Given the description of an element on the screen output the (x, y) to click on. 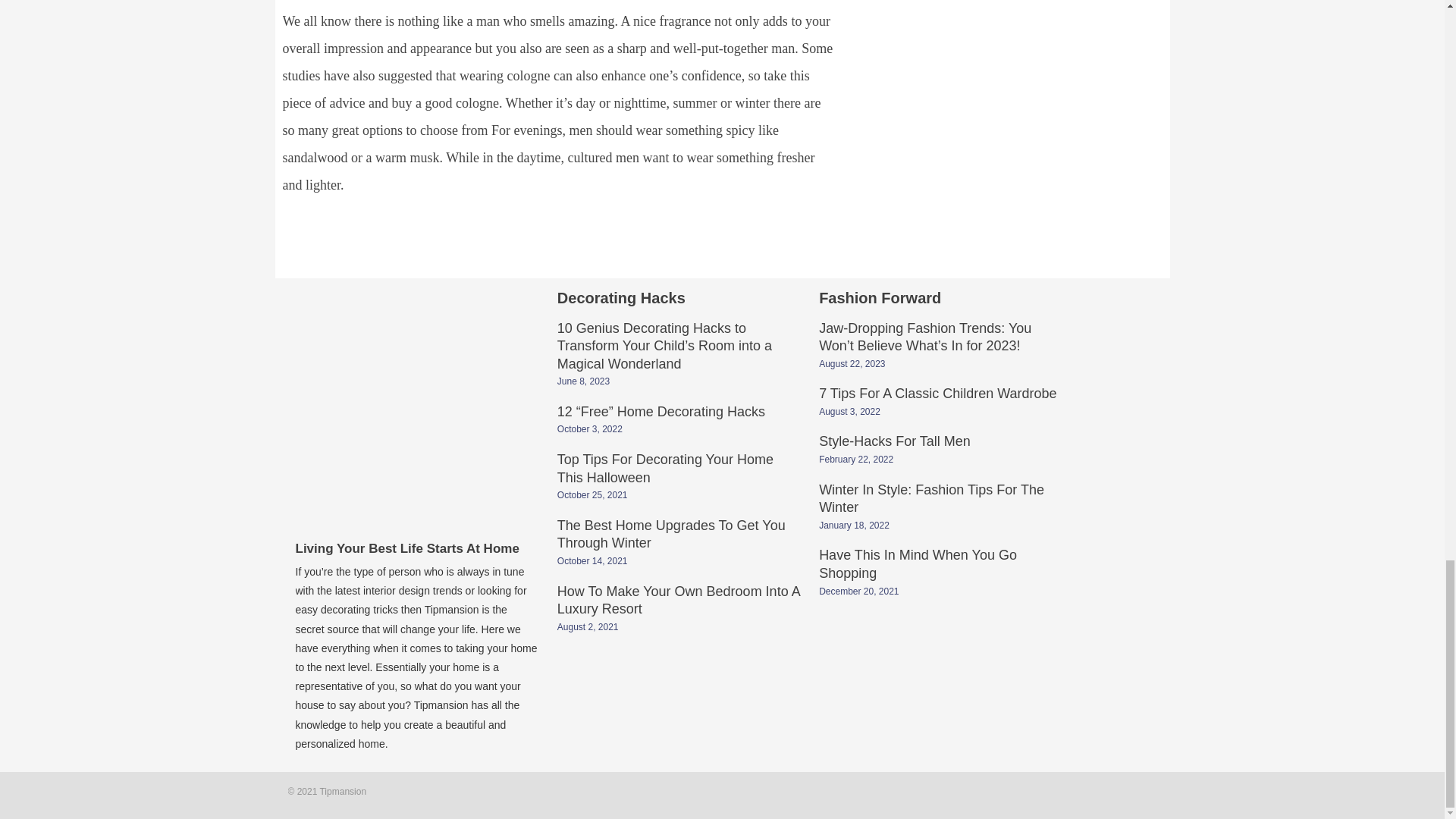
Top Tips For Decorating Your Home This Halloween (665, 469)
The Best Home Upgrades To Get You Through Winter (671, 535)
Have This In Mind When You Go Shopping (917, 565)
Style-Hacks For Tall Men (894, 442)
Winter In Style: Fashion Tips For The Winter (930, 500)
How To Make Your Own Bedroom Into A Luxury Resort (678, 602)
7 Tips For A Classic Children Wardrobe (937, 394)
